Given the description of an element on the screen output the (x, y) to click on. 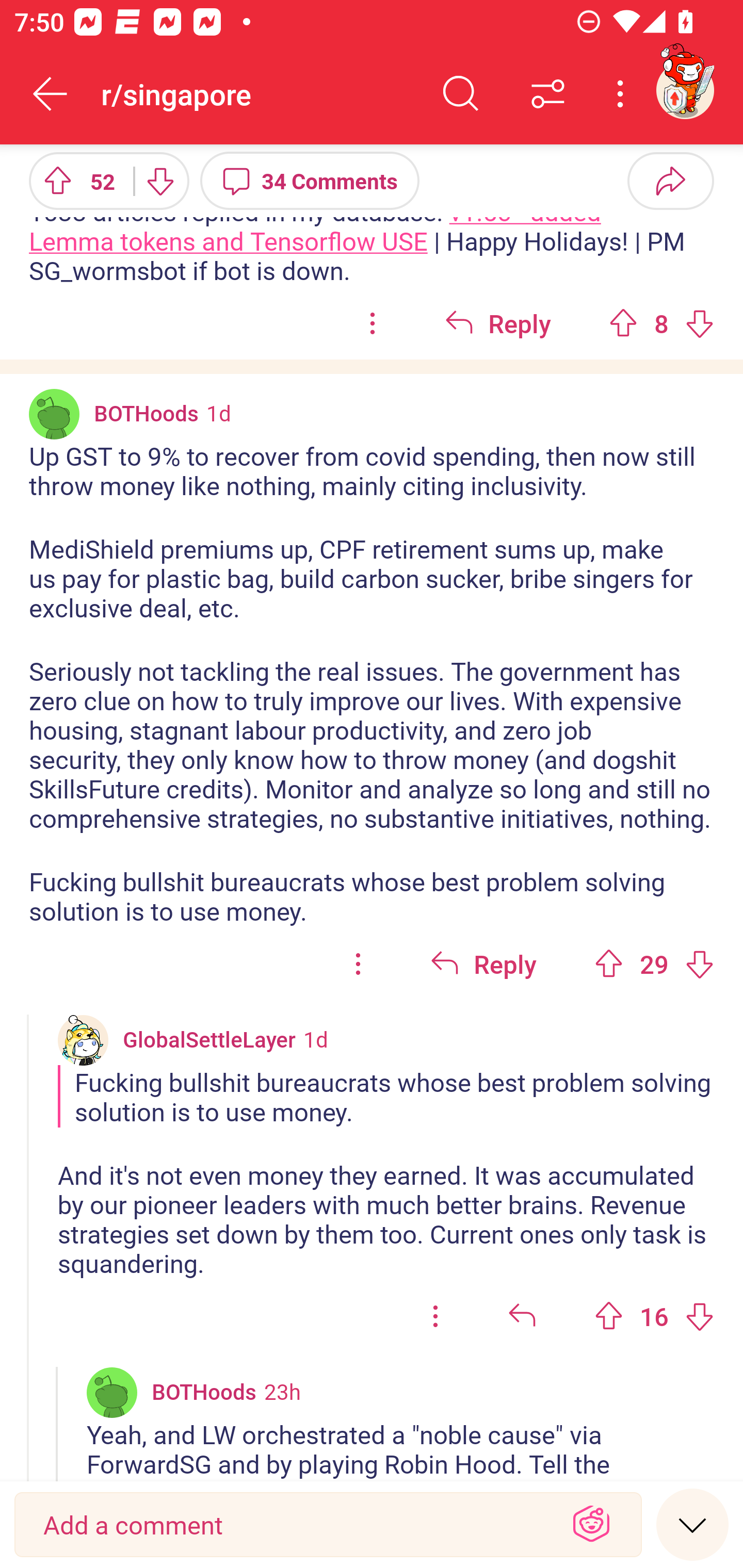
Back (50, 93)
TestAppium002 account (685, 90)
Search comments (460, 93)
Sort comments (547, 93)
More options (623, 93)
r/singapore (259, 92)
Upvote 52 (73, 180)
Downvote (158, 180)
34 Comments (309, 180)
Share (670, 180)
options (372, 322)
Reply (498, 322)
Upvote 8 8 votes Downvote (661, 322)
Avatar (53, 413)
options (358, 964)
Reply (483, 964)
Upvote 29 29 votes Downvote (654, 964)
Custom avatar (82, 1039)
options (435, 1315)
Upvote 16 16 votes Downvote (654, 1315)
Avatar (111, 1392)
Speed read (692, 1524)
Add a comment (291, 1524)
Show Expressions (590, 1524)
